Given the description of an element on the screen output the (x, y) to click on. 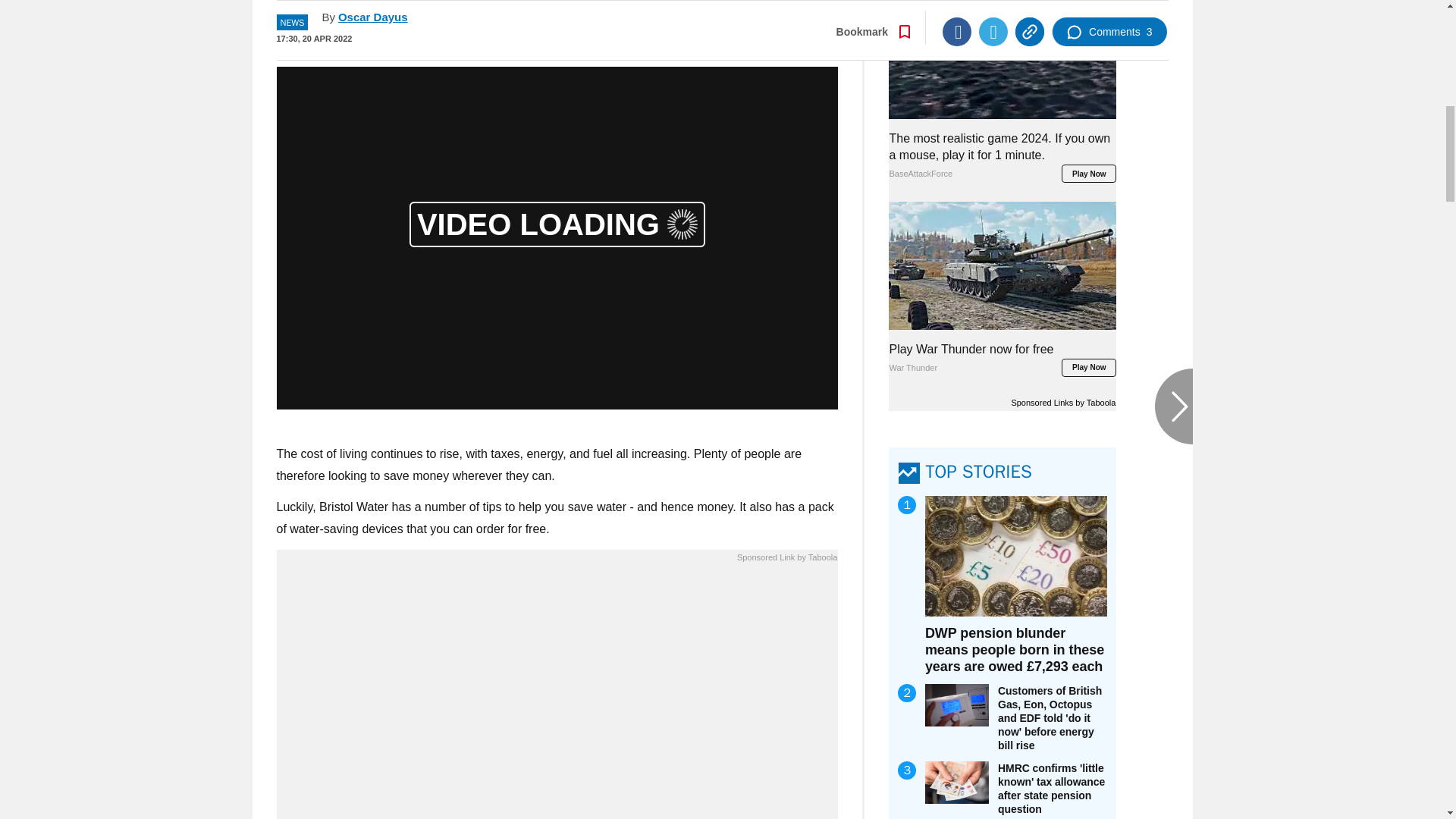
Go (730, 17)
